Given the description of an element on the screen output the (x, y) to click on. 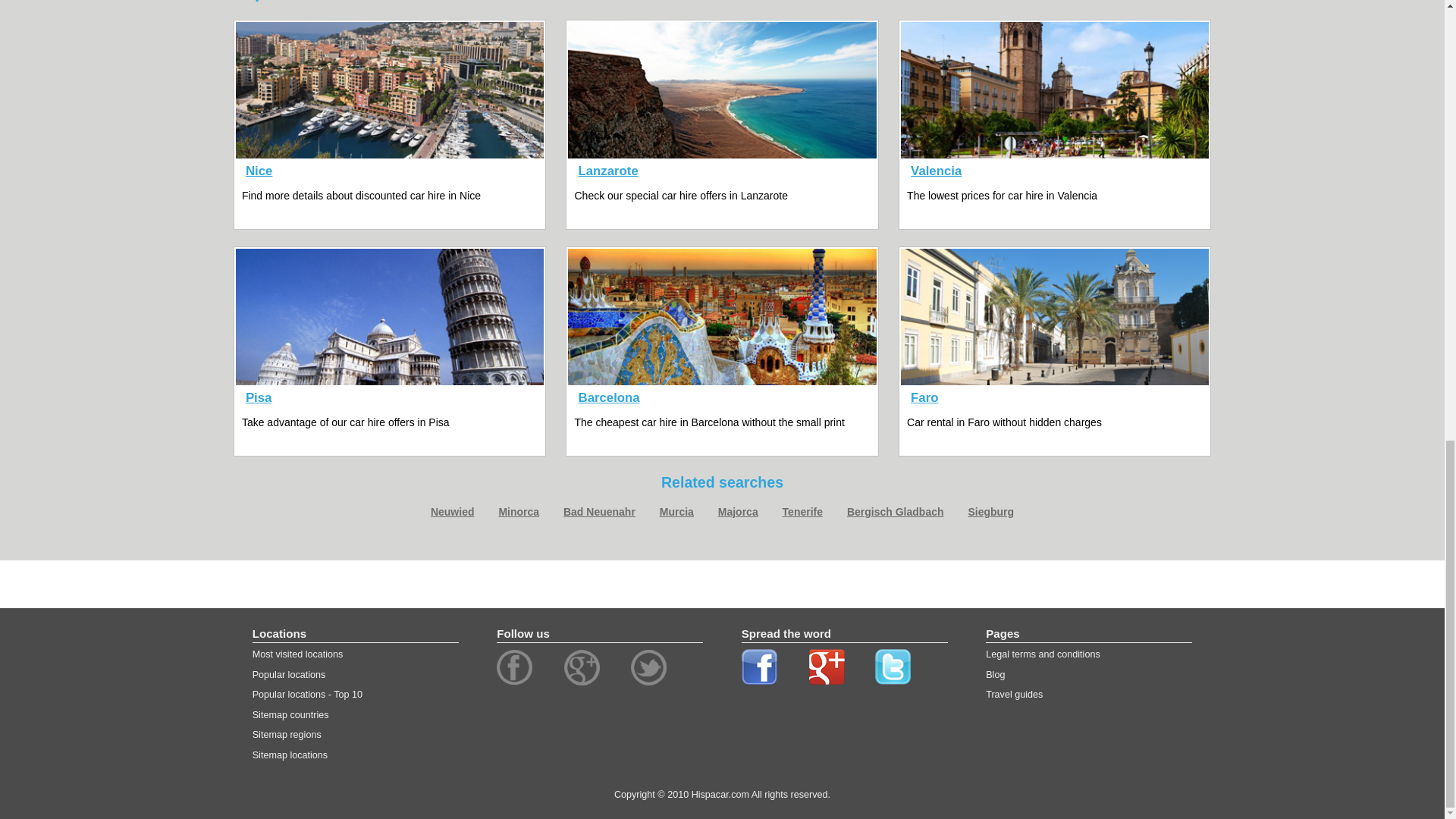
Pisa (259, 397)
Barcelona (609, 397)
Neuwied (452, 511)
Murcia (676, 511)
Tenerife (802, 511)
Minorca (517, 511)
Faro (924, 397)
Nice (259, 171)
Majorca (737, 511)
Valencia (935, 171)
